Given the description of an element on the screen output the (x, y) to click on. 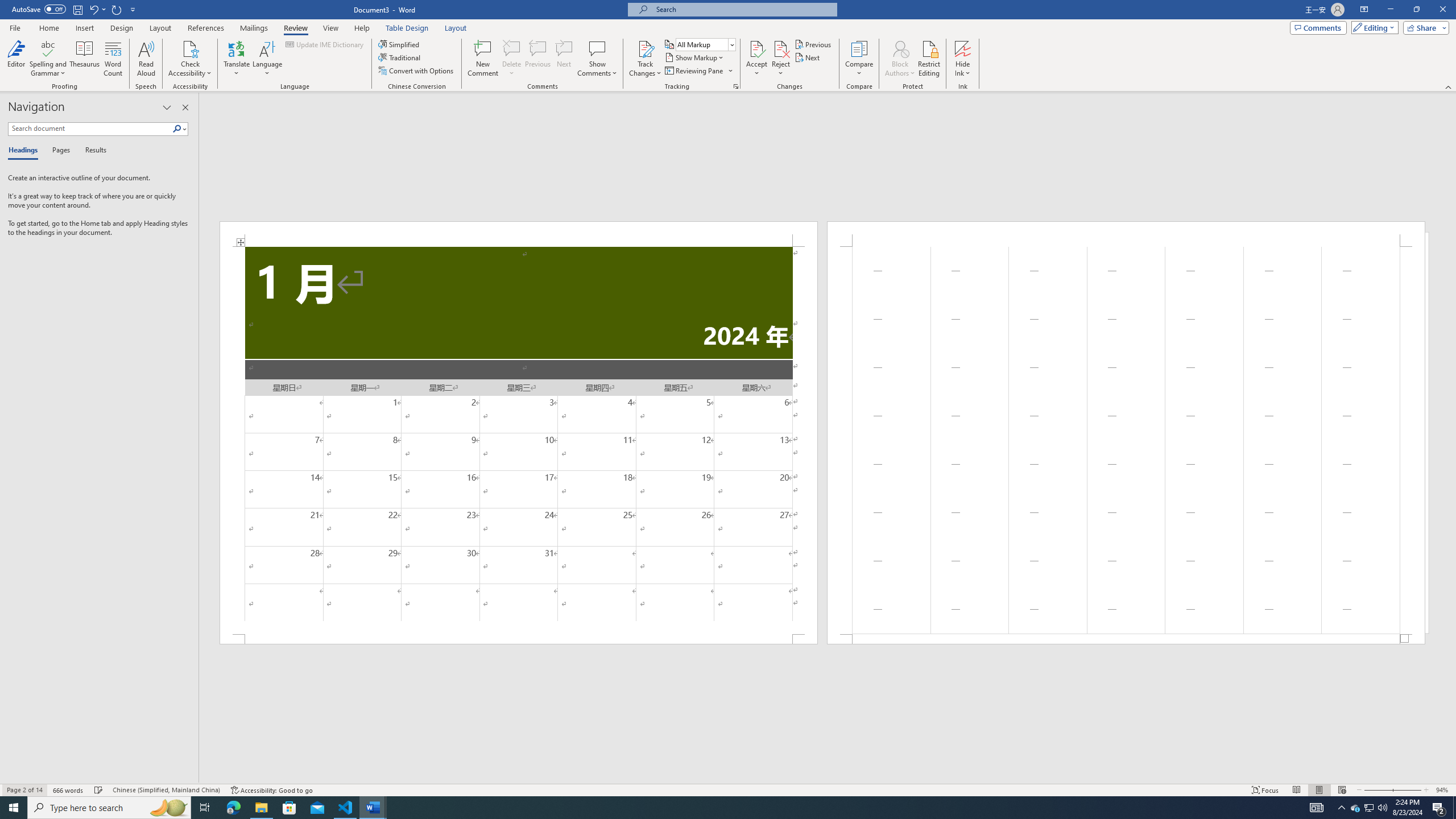
Previous (813, 44)
Next (808, 56)
Convert with Options... (417, 69)
Reviewing Pane (698, 69)
